Given the description of an element on the screen output the (x, y) to click on. 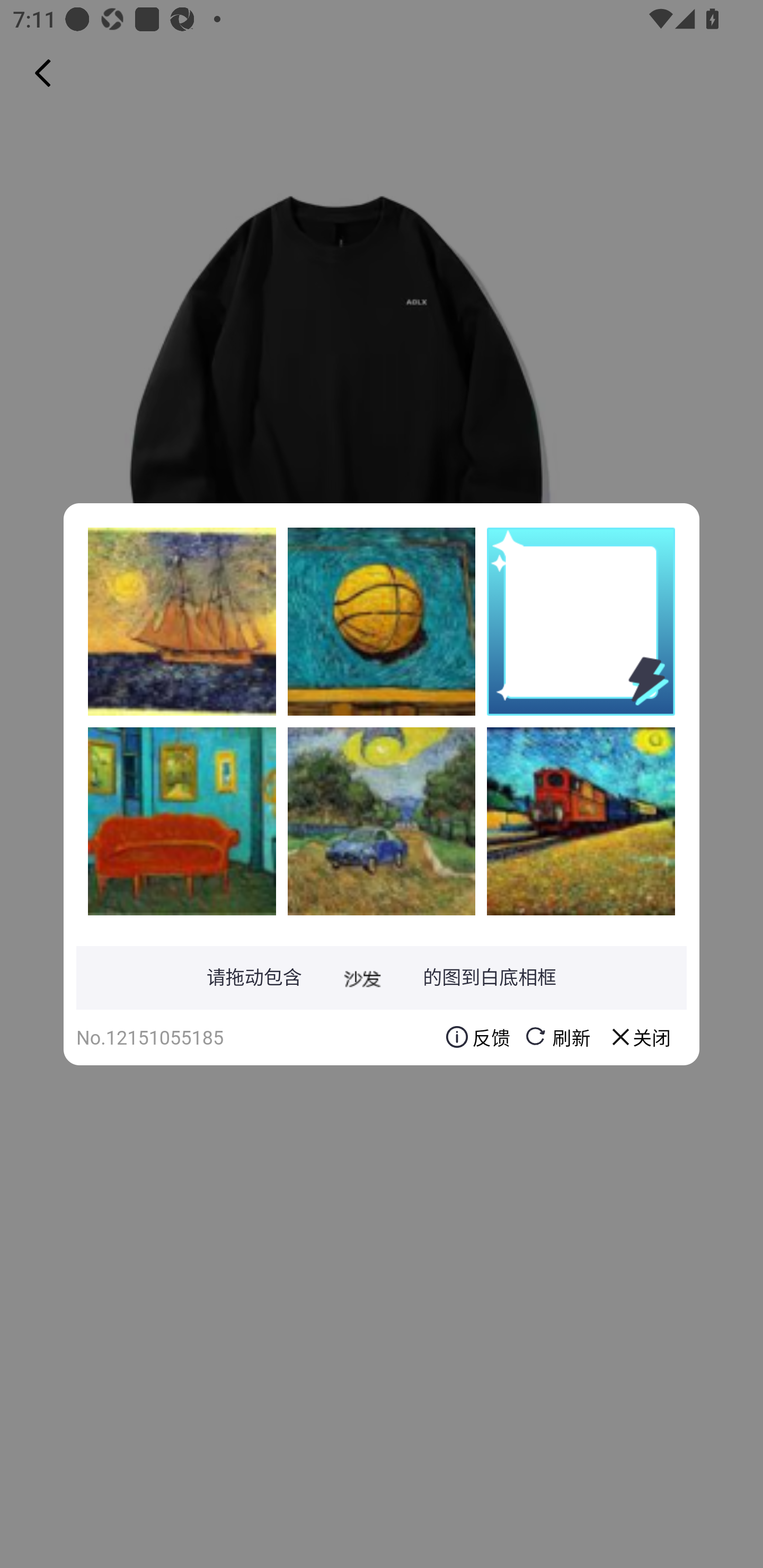
Dxw (381, 621)
